Given the description of an element on the screen output the (x, y) to click on. 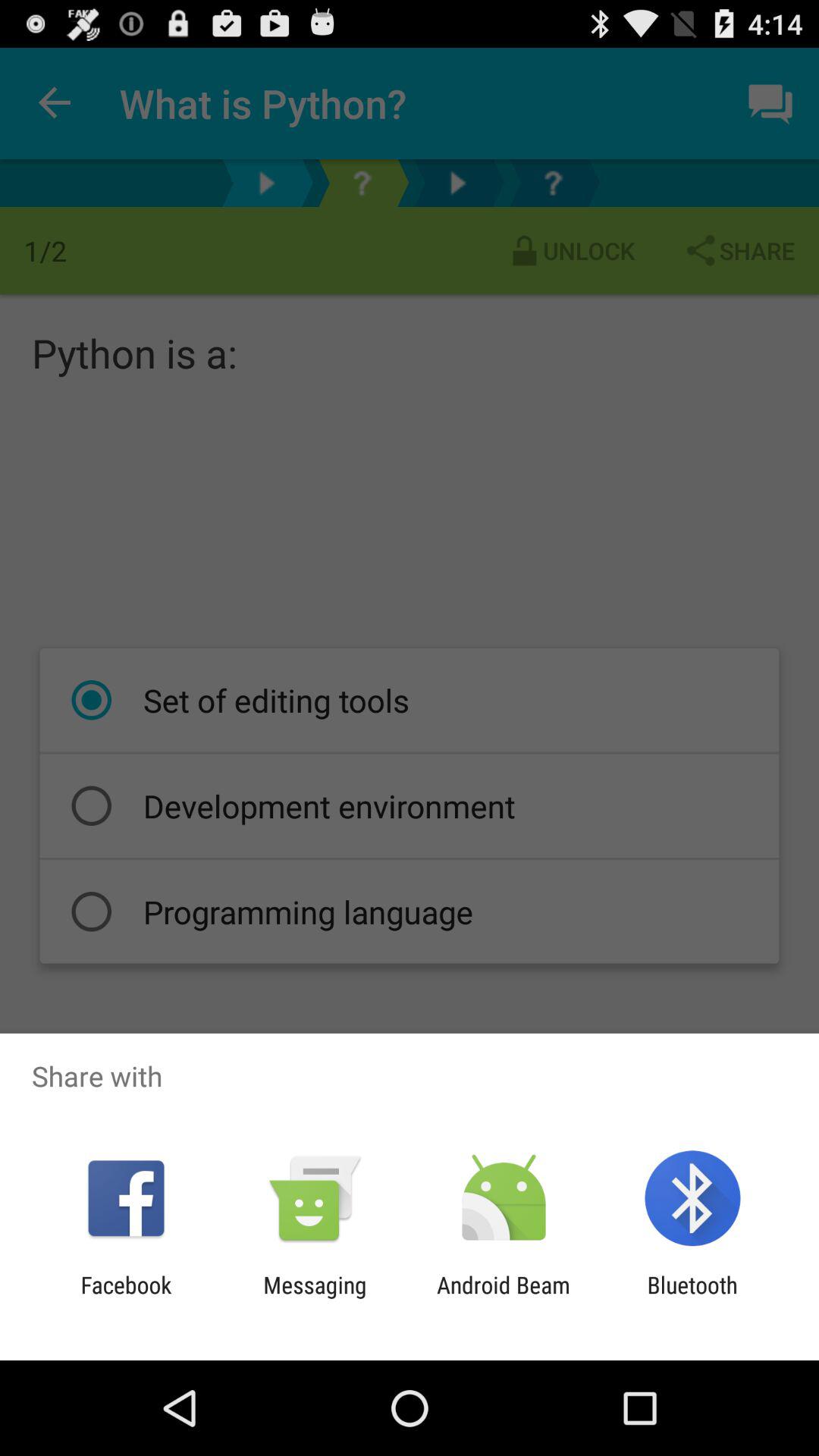
tap the facebook (125, 1298)
